Given the description of an element on the screen output the (x, y) to click on. 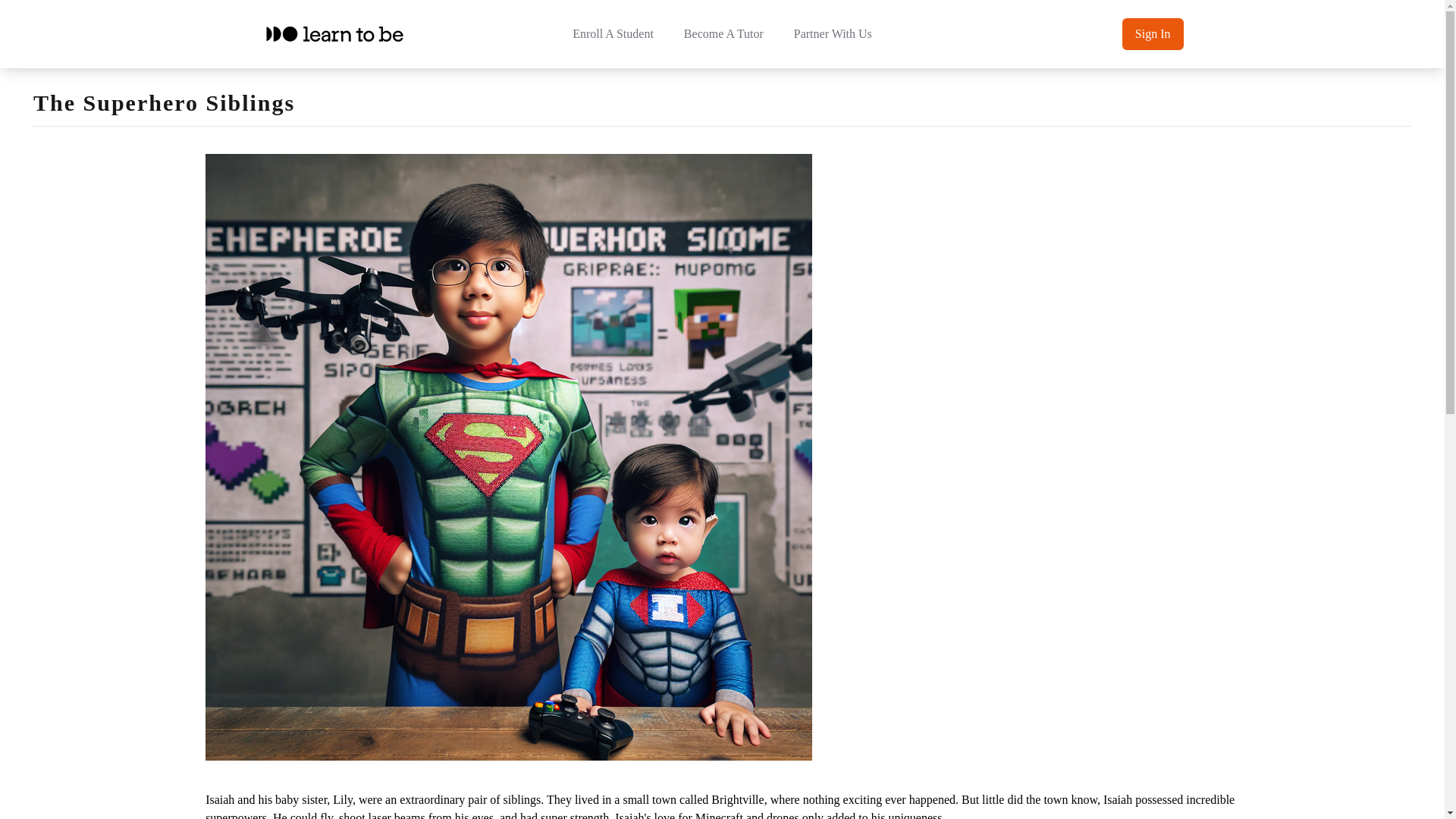
Learn To Be (333, 33)
Partner With Us (832, 34)
Become A Tutor (723, 34)
Sign In (1152, 33)
Enroll A Student (612, 34)
